Given the description of an element on the screen output the (x, y) to click on. 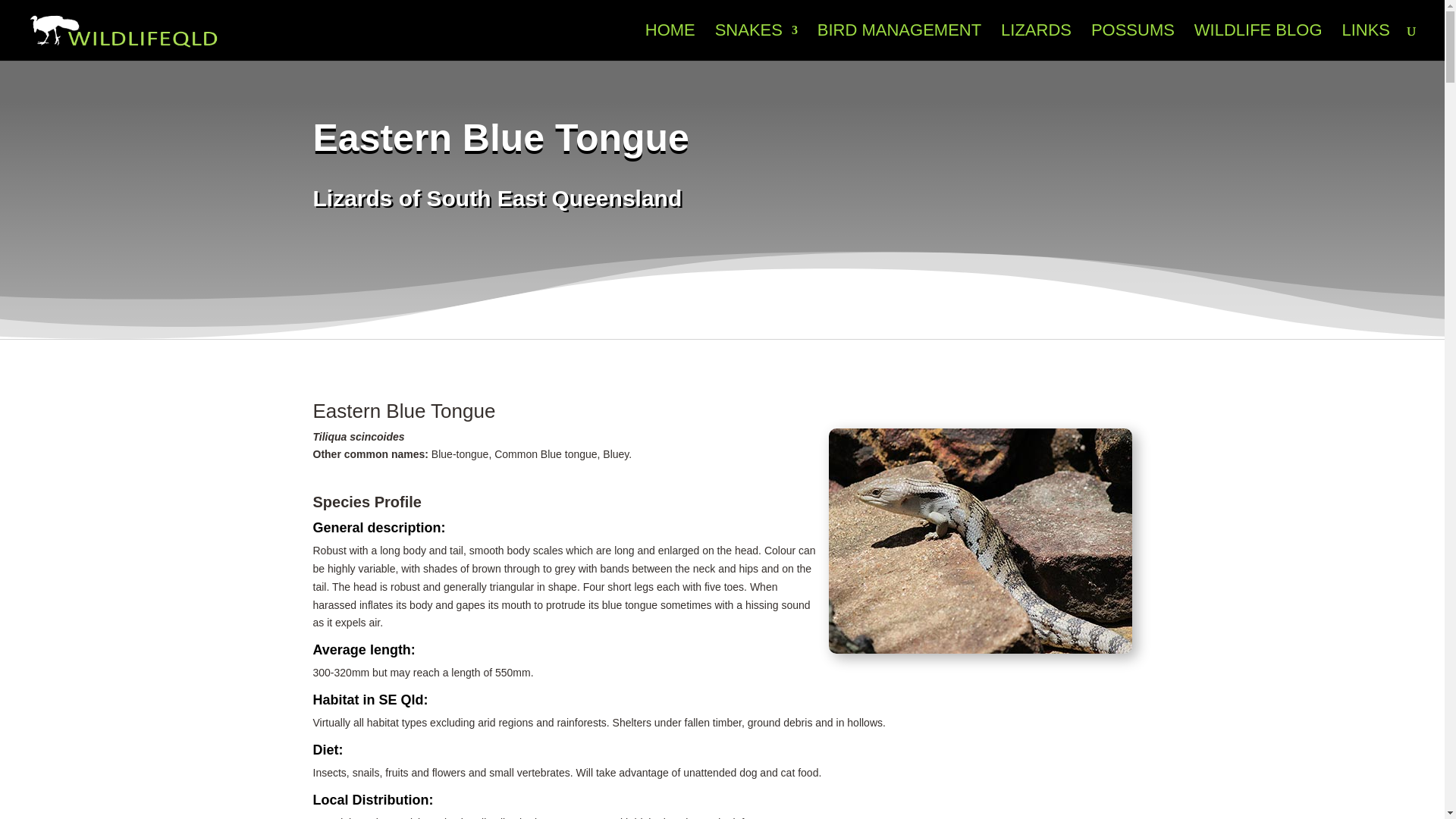
SNAKES (755, 42)
BIRD MANAGEMENT (898, 42)
HOME (670, 42)
LIZARDS (1036, 42)
POSSUMS (1132, 42)
WILDLIFE BLOG (1257, 42)
LINKS (1365, 42)
